Given the description of an element on the screen output the (x, y) to click on. 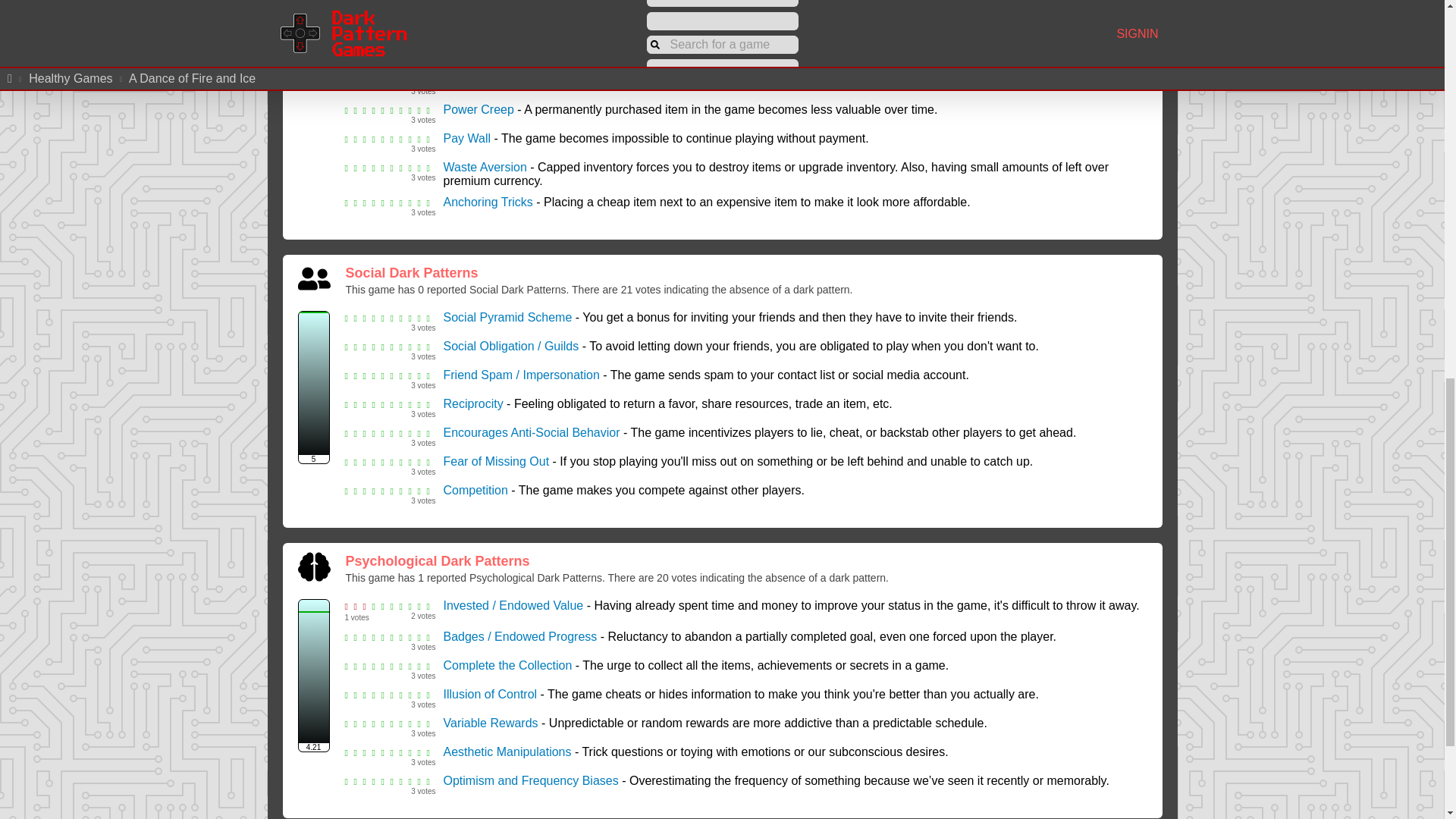
Reciprocity (472, 403)
Complete the Collection (507, 665)
Encourages Anti-Social Behavior (531, 431)
Competition (474, 490)
Illusion of Control (489, 694)
Accidental Purchases (502, 22)
Power Creep (477, 109)
Recurring Fee (480, 51)
Pay Wall (466, 137)
Social Pyramid Scheme (507, 317)
